Given the description of an element on the screen output the (x, y) to click on. 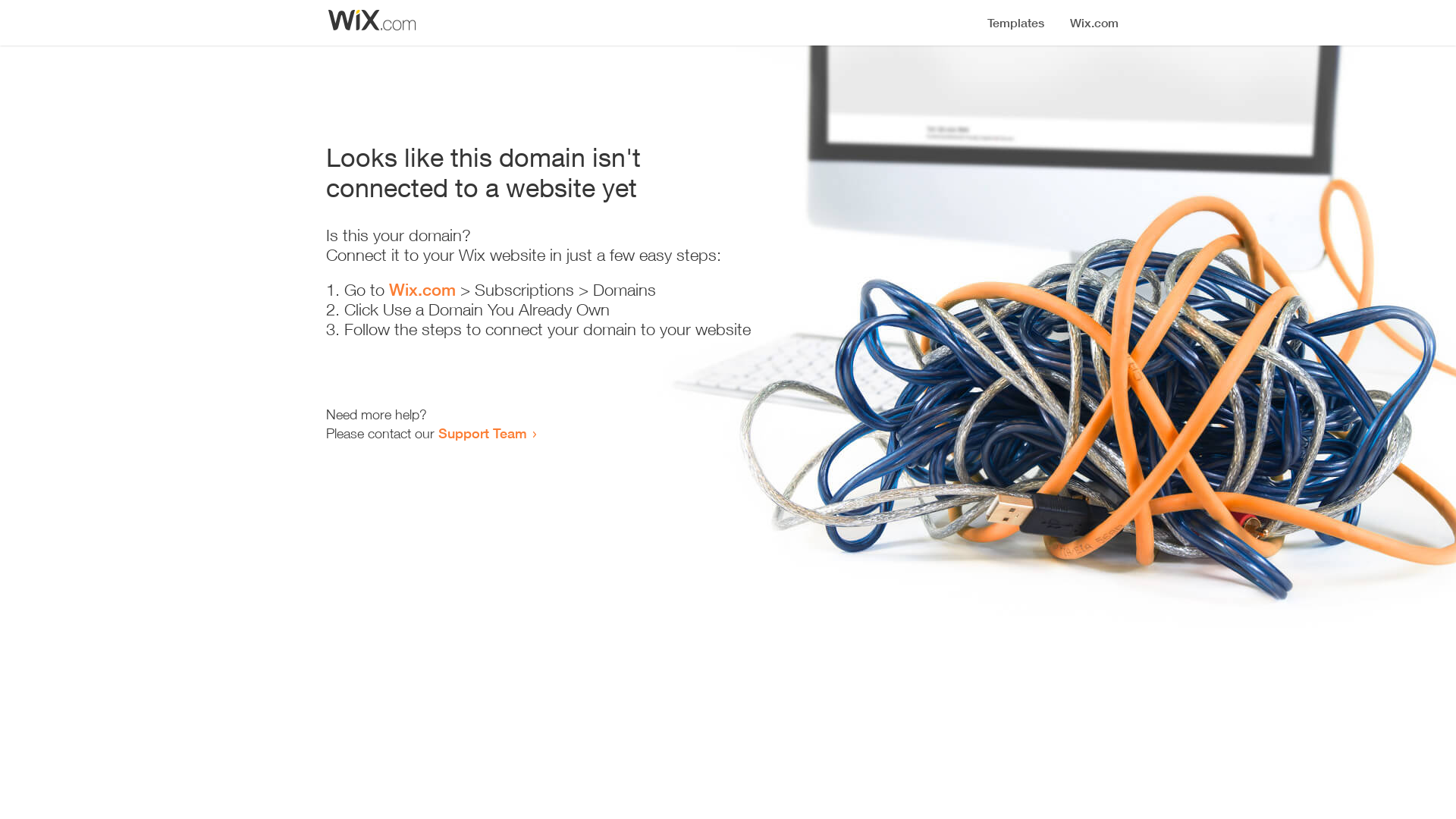
Wix.com Element type: text (422, 289)
Support Team Element type: text (482, 432)
